Given the description of an element on the screen output the (x, y) to click on. 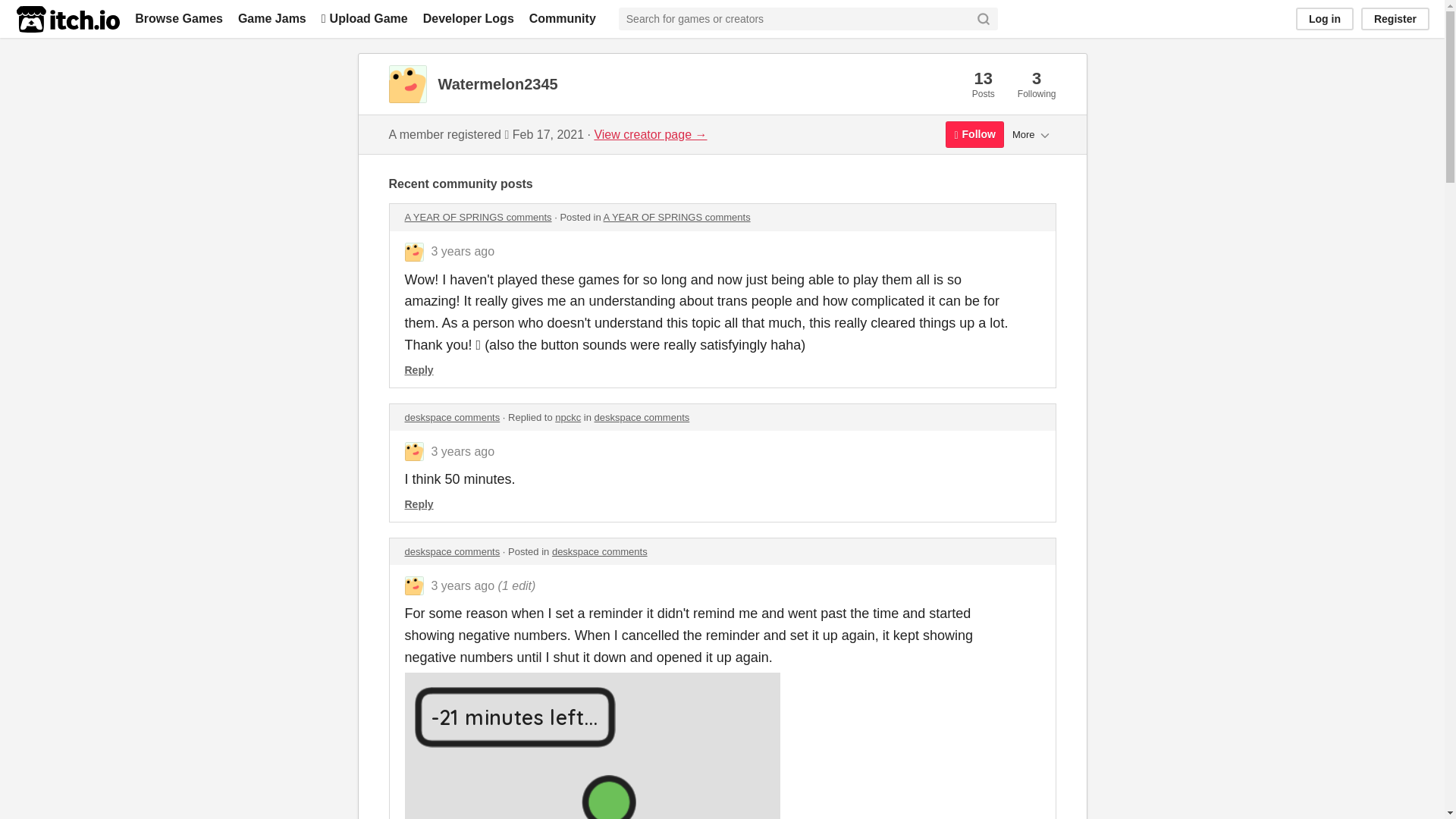
Log in (1324, 18)
deskspace comments (452, 551)
Follow (973, 134)
Developer Logs (468, 18)
3 years ago (462, 451)
deskspace comments (642, 417)
Register (1395, 18)
A YEAR OF SPRINGS comments (477, 216)
npckc (567, 417)
Browse Games (178, 18)
